Given the description of an element on the screen output the (x, y) to click on. 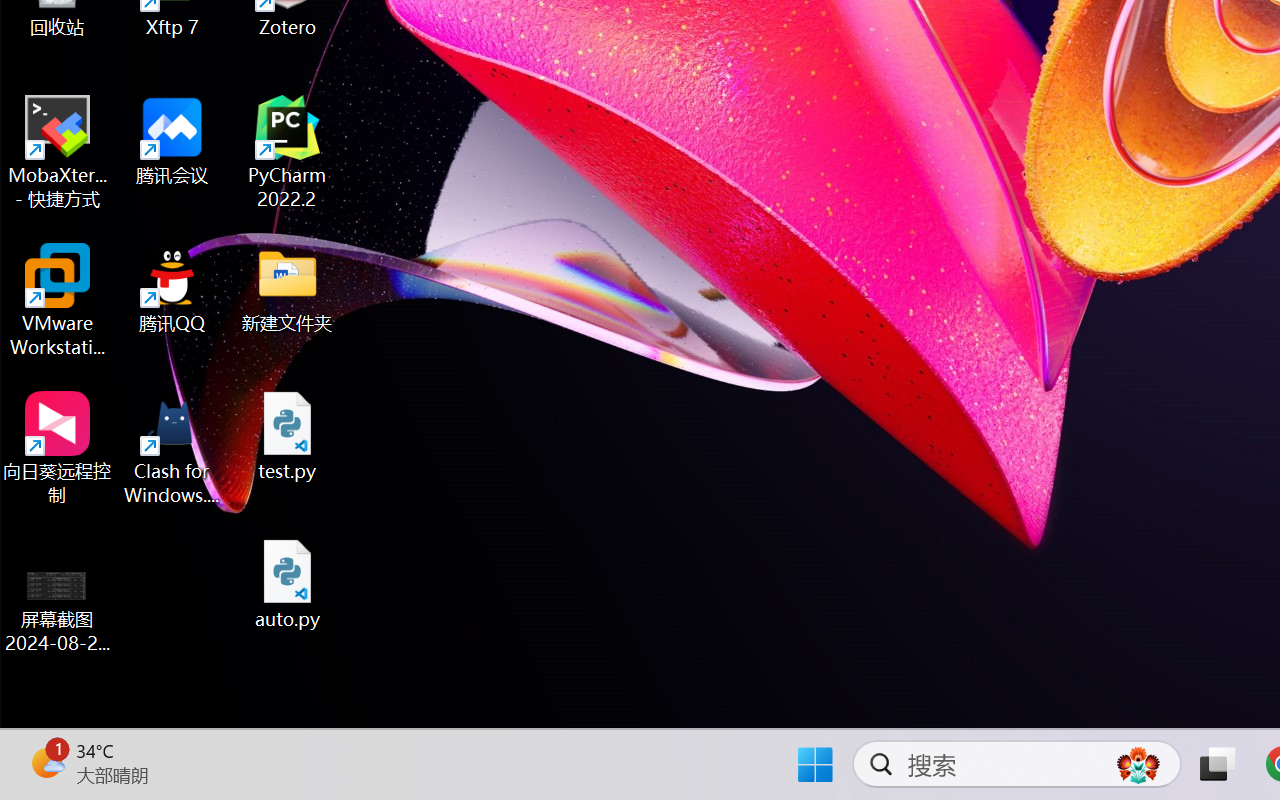
VMware Workstation Pro (57, 300)
PyCharm 2022.2 (287, 152)
test.py (287, 436)
auto.py (287, 584)
